Given the description of an element on the screen output the (x, y) to click on. 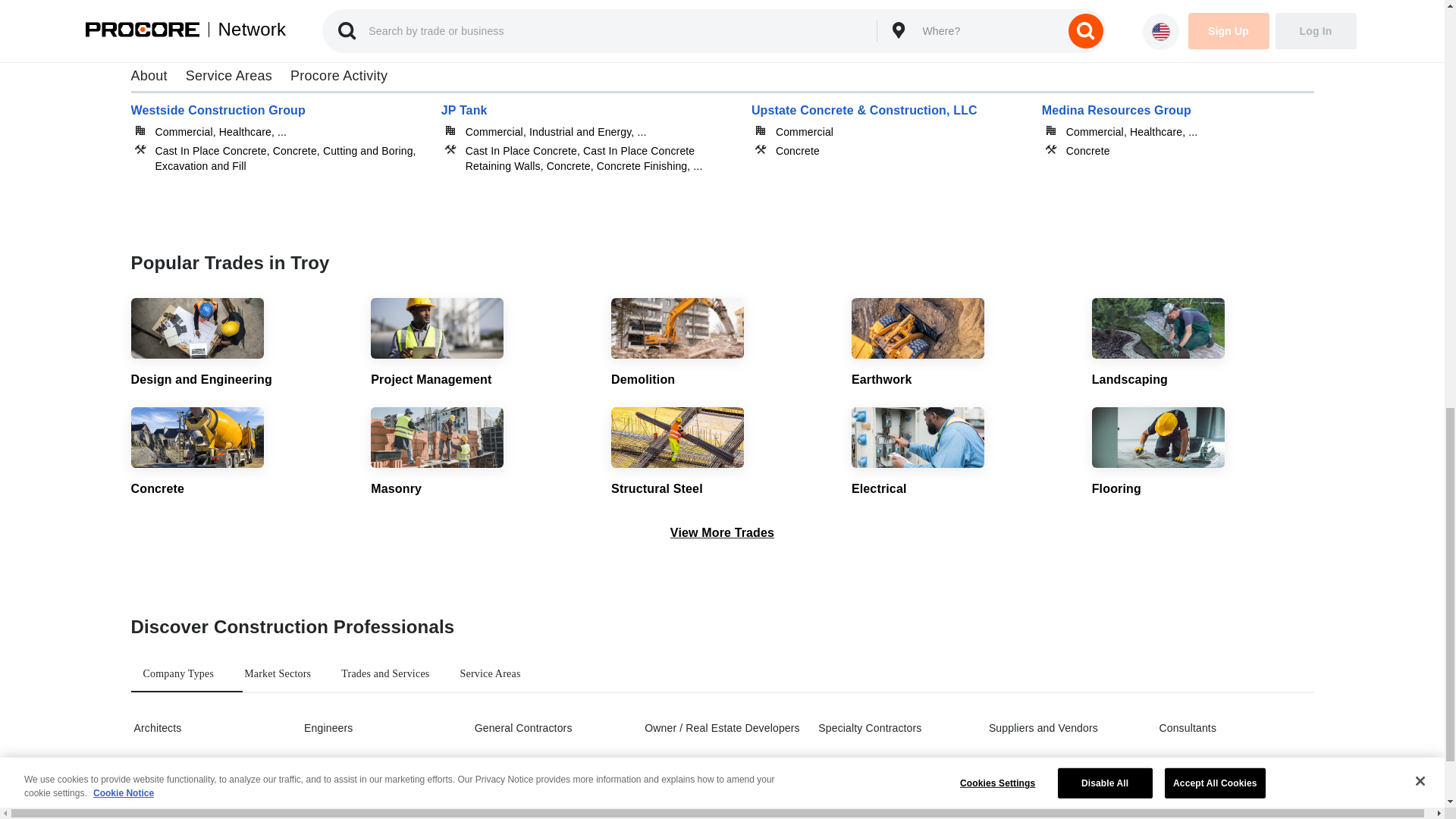
View More Trades (722, 533)
Masonry (481, 452)
Project Management (481, 343)
Engineers (379, 727)
Concrete (241, 452)
Medina Resources Group (1178, 125)
Earthwork (962, 343)
Design and Engineering (241, 343)
Flooring (1203, 452)
Architects (209, 727)
